Given the description of an element on the screen output the (x, y) to click on. 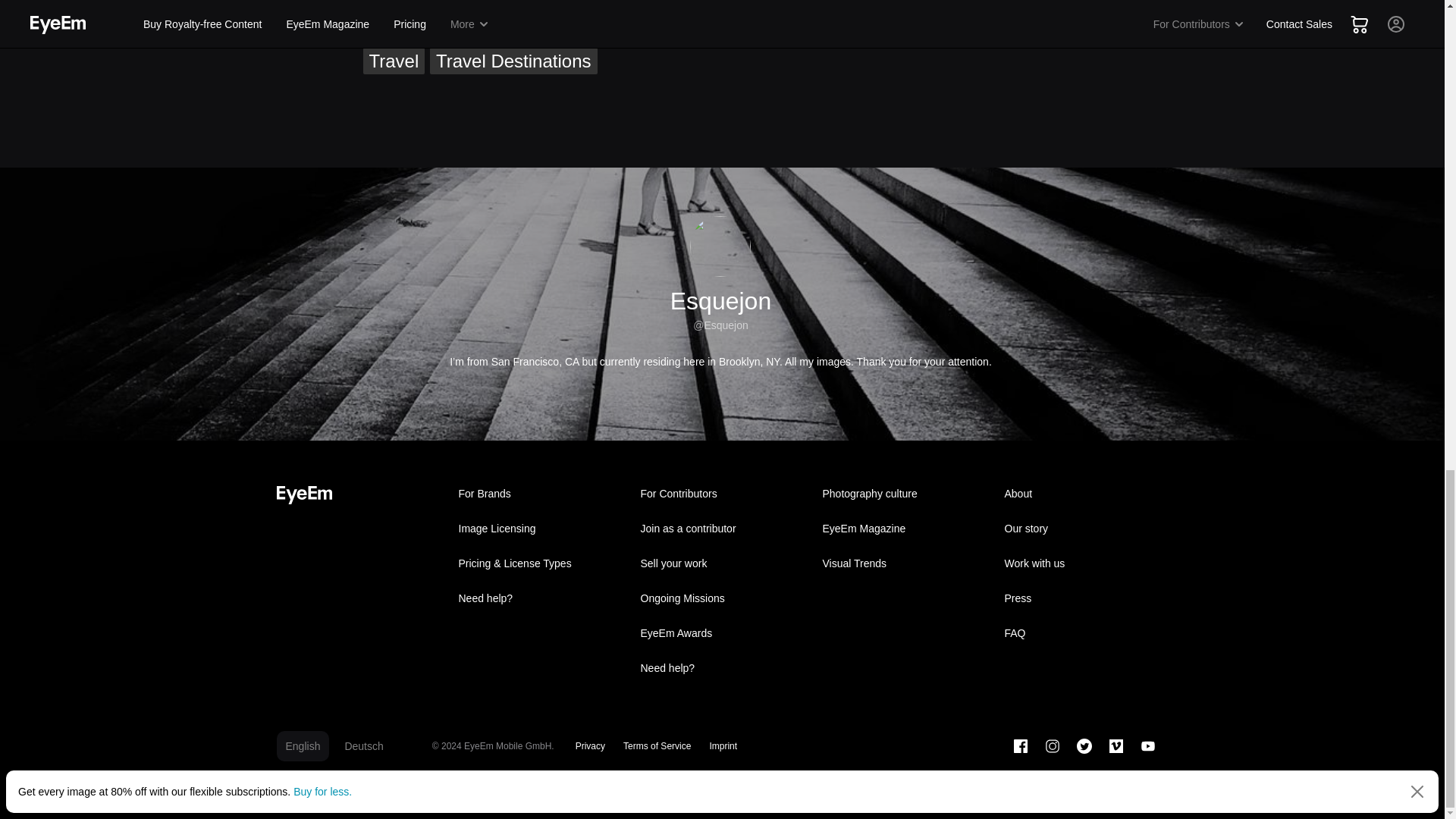
No People (572, 6)
Tall - High (579, 30)
Outdoors (669, 6)
Suspension Bridge (444, 30)
Manhattan Bridge (440, 6)
